Given the description of an element on the screen output the (x, y) to click on. 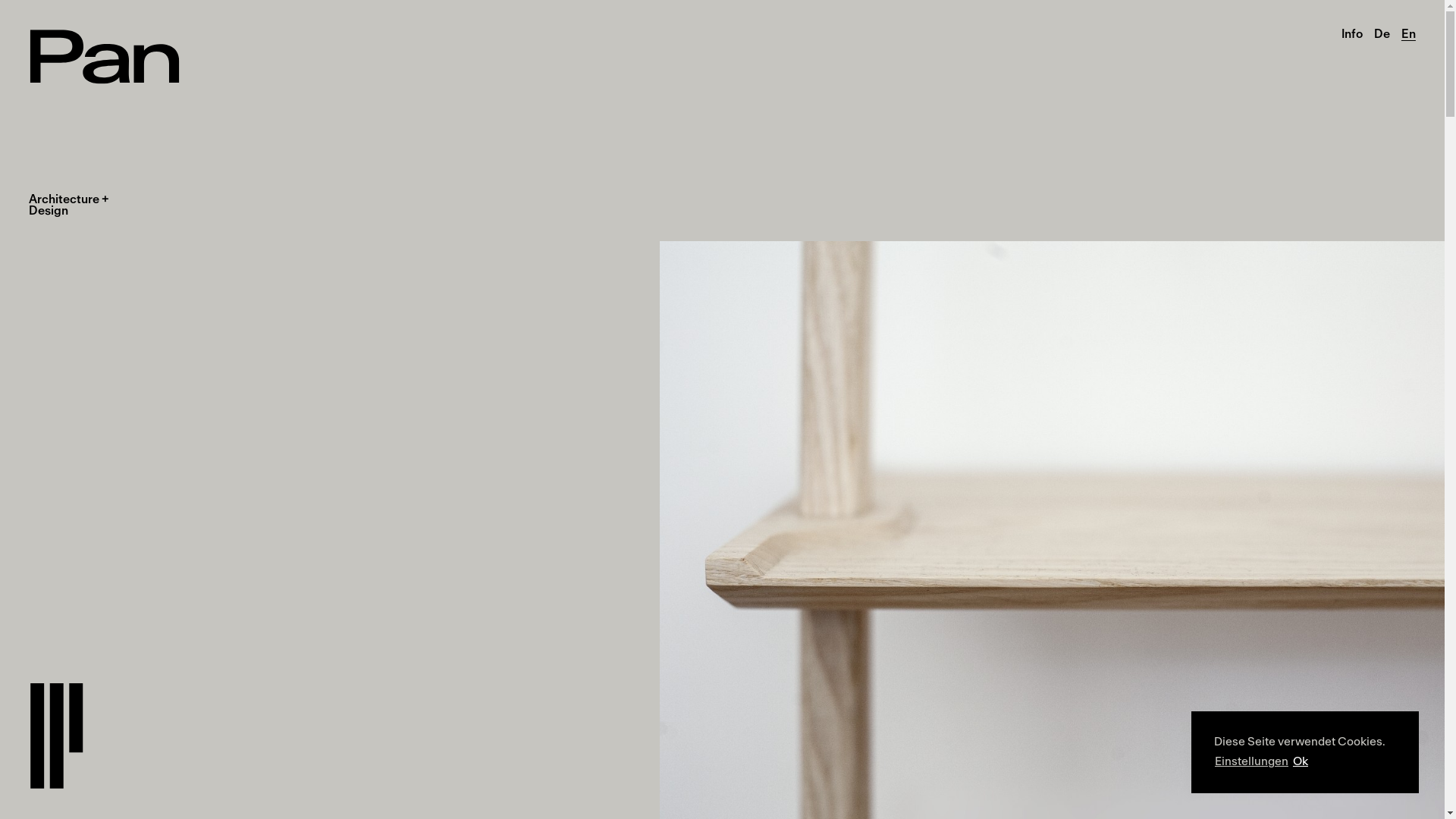
En Element type: text (1408, 34)
Ok Element type: text (1300, 761)
Einstellungen Element type: text (1251, 761)
De Element type: text (1382, 34)
Info Element type: text (1351, 34)
